Given the description of an element on the screen output the (x, y) to click on. 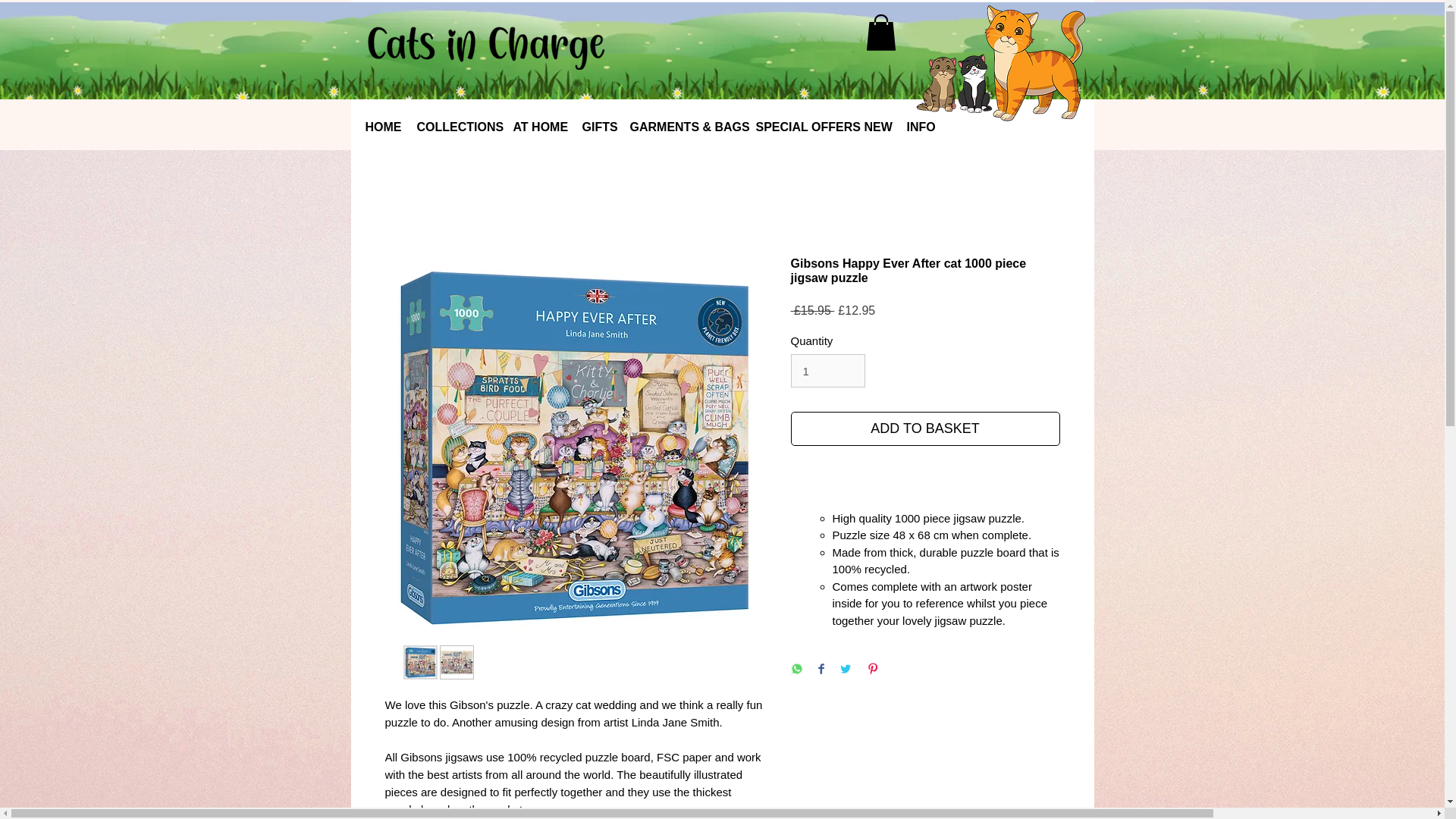
SPECIAL OFFERS (802, 127)
Cats in Charge logo text (484, 46)
Cats in charge logo (1000, 63)
1 (827, 370)
HOME (383, 127)
